Given the description of an element on the screen output the (x, y) to click on. 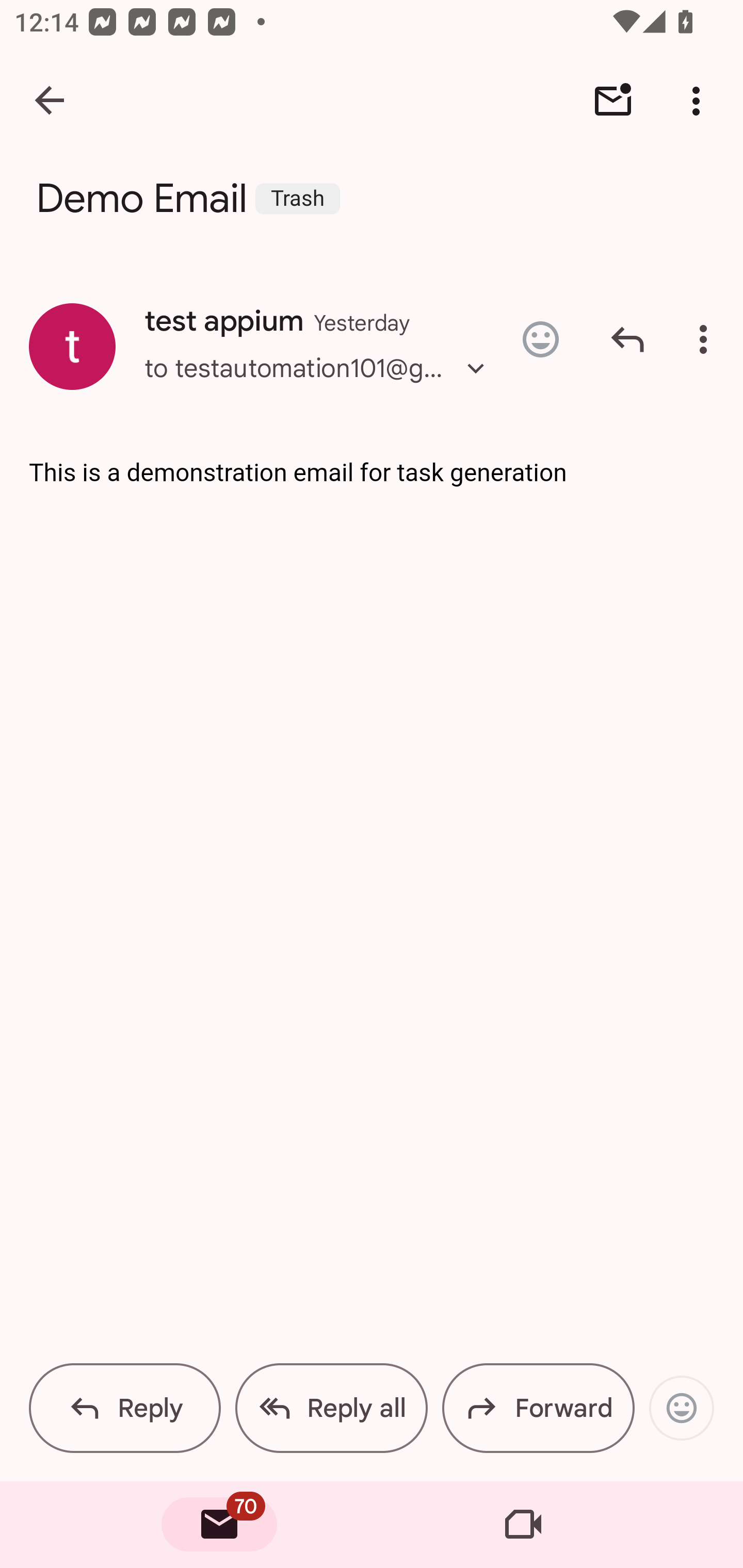
Navigate up (50, 101)
Mark unread (612, 101)
More options (699, 101)
Add emoji reaction (540, 339)
Reply (626, 339)
More options (706, 339)
Show contact information for test appium (71, 346)
to testautomation101@gmail.com (320, 386)
Reply (124, 1407)
Reply all (331, 1407)
Forward (538, 1407)
Add emoji reaction (681, 1407)
Meet (523, 1524)
